Given the description of an element on the screen output the (x, y) to click on. 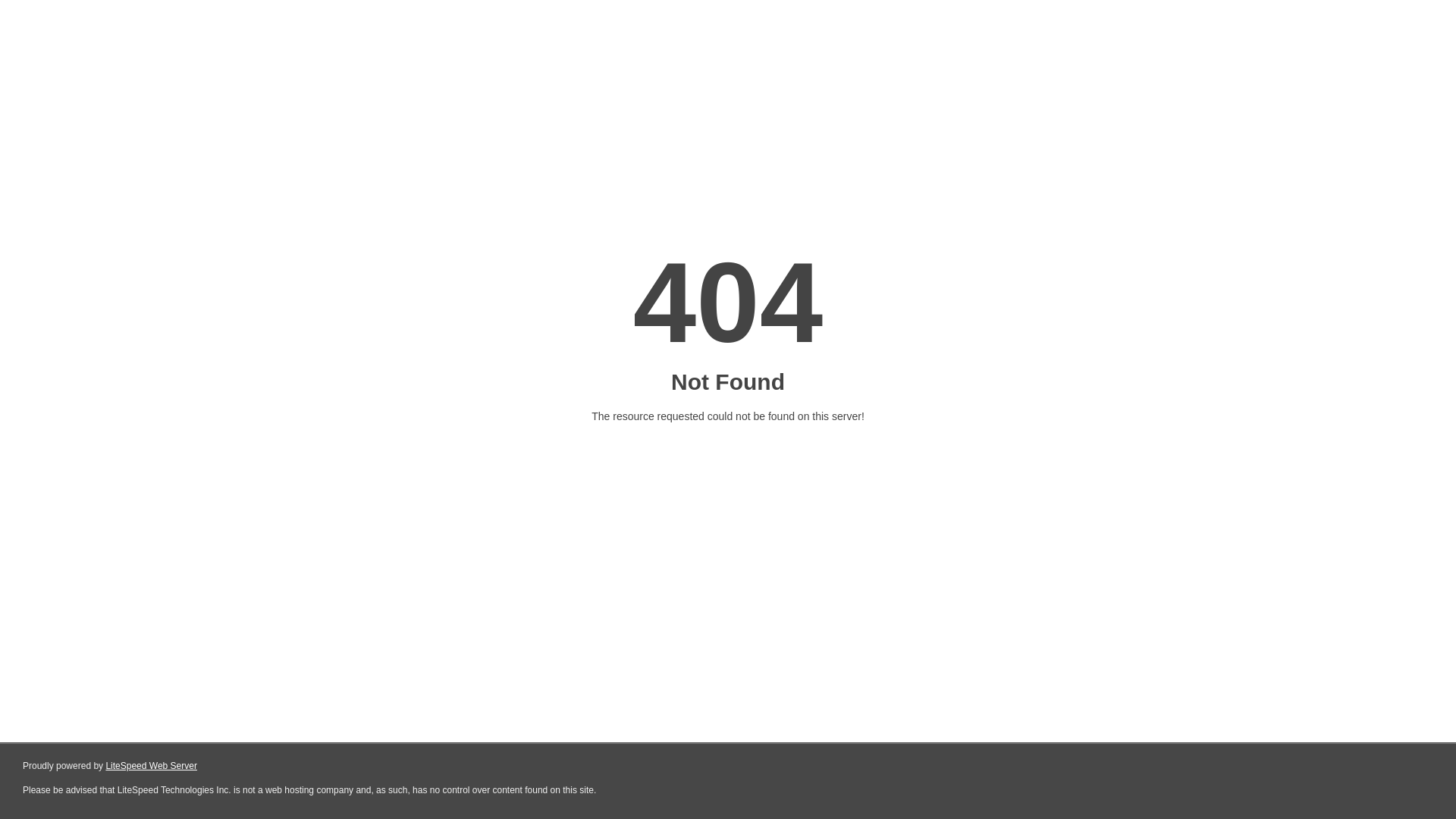
LiteSpeed Web Server Element type: text (151, 765)
